Given the description of an element on the screen output the (x, y) to click on. 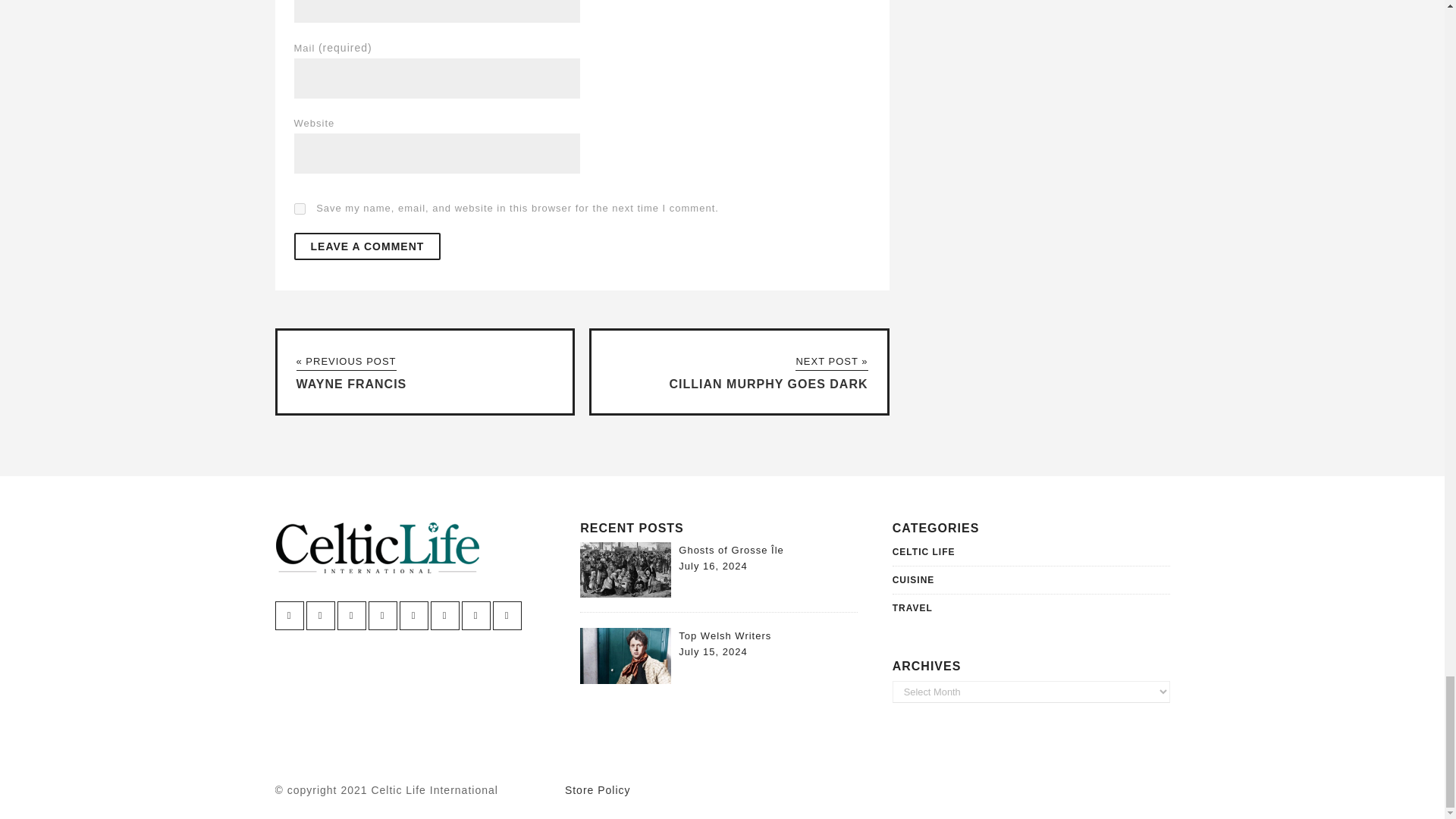
Leave a Comment (367, 246)
yes (299, 208)
